Given the description of an element on the screen output the (x, y) to click on. 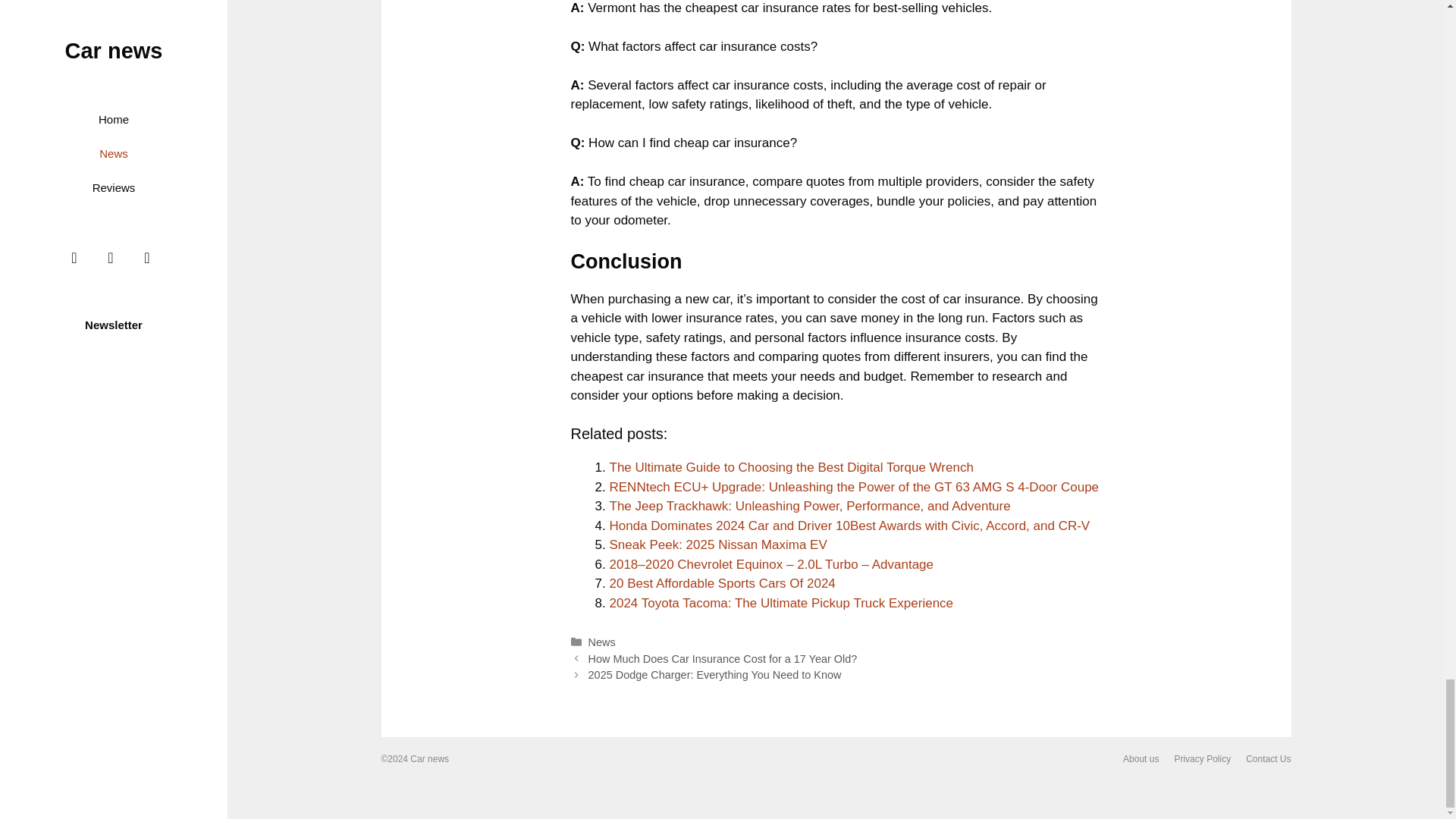
Sneak Peek: 2025 Nissan Maxima EV (718, 544)
How Much Does Car Insurance Cost for a 17 Year Old? (722, 658)
2024 Toyota Tacoma: The Ultimate Pickup Truck Experience (781, 603)
20 Best Affordable Sports Cars Of 2024 (722, 583)
News (601, 642)
